Given the description of an element on the screen output the (x, y) to click on. 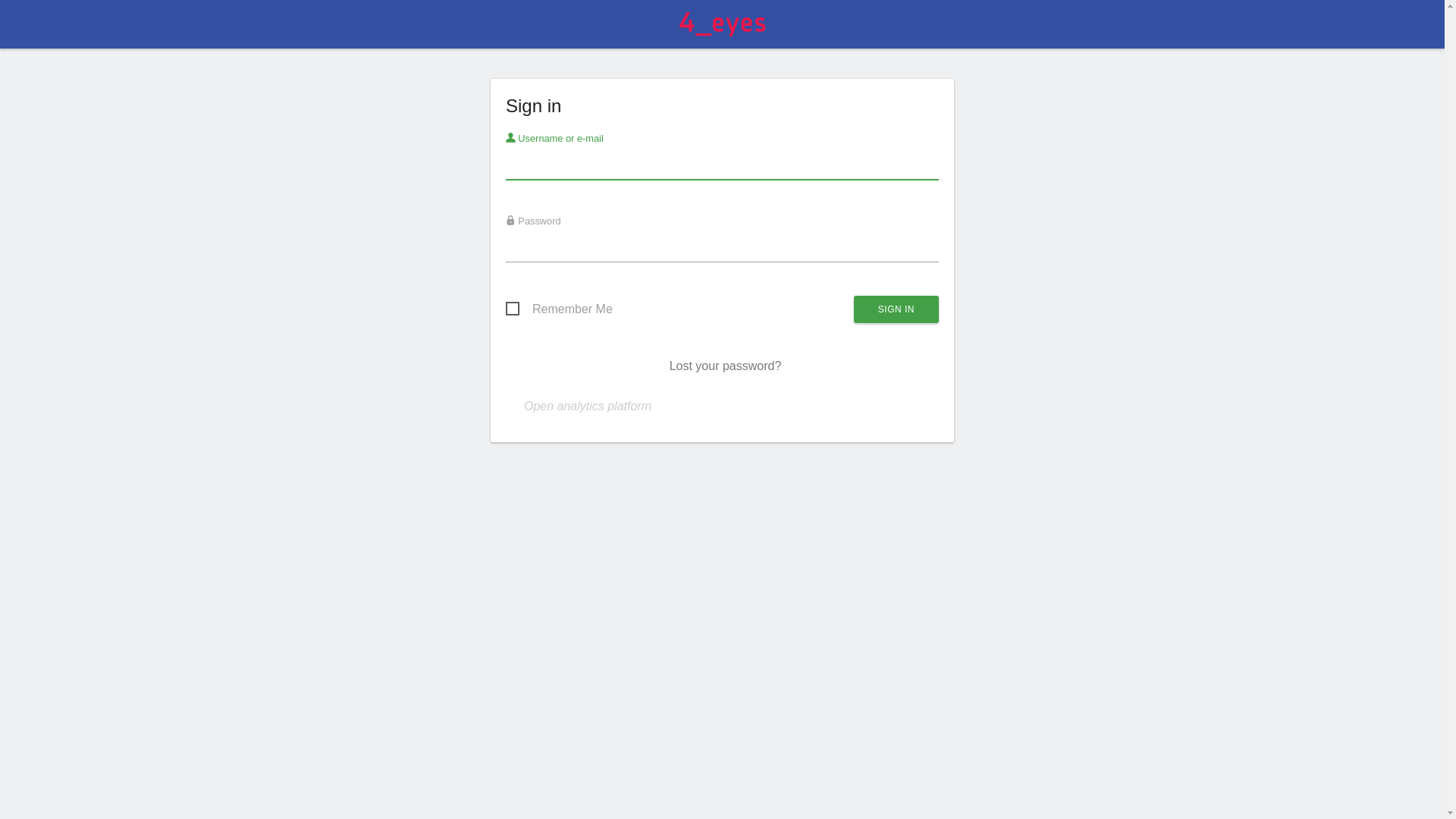
Powered by Matomo Element type: hover (722, 27)
Lost your password? Element type: text (725, 365)
Open analytics platform Element type: text (587, 405)
Sign in Element type: text (895, 309)
